Given the description of an element on the screen output the (x, y) to click on. 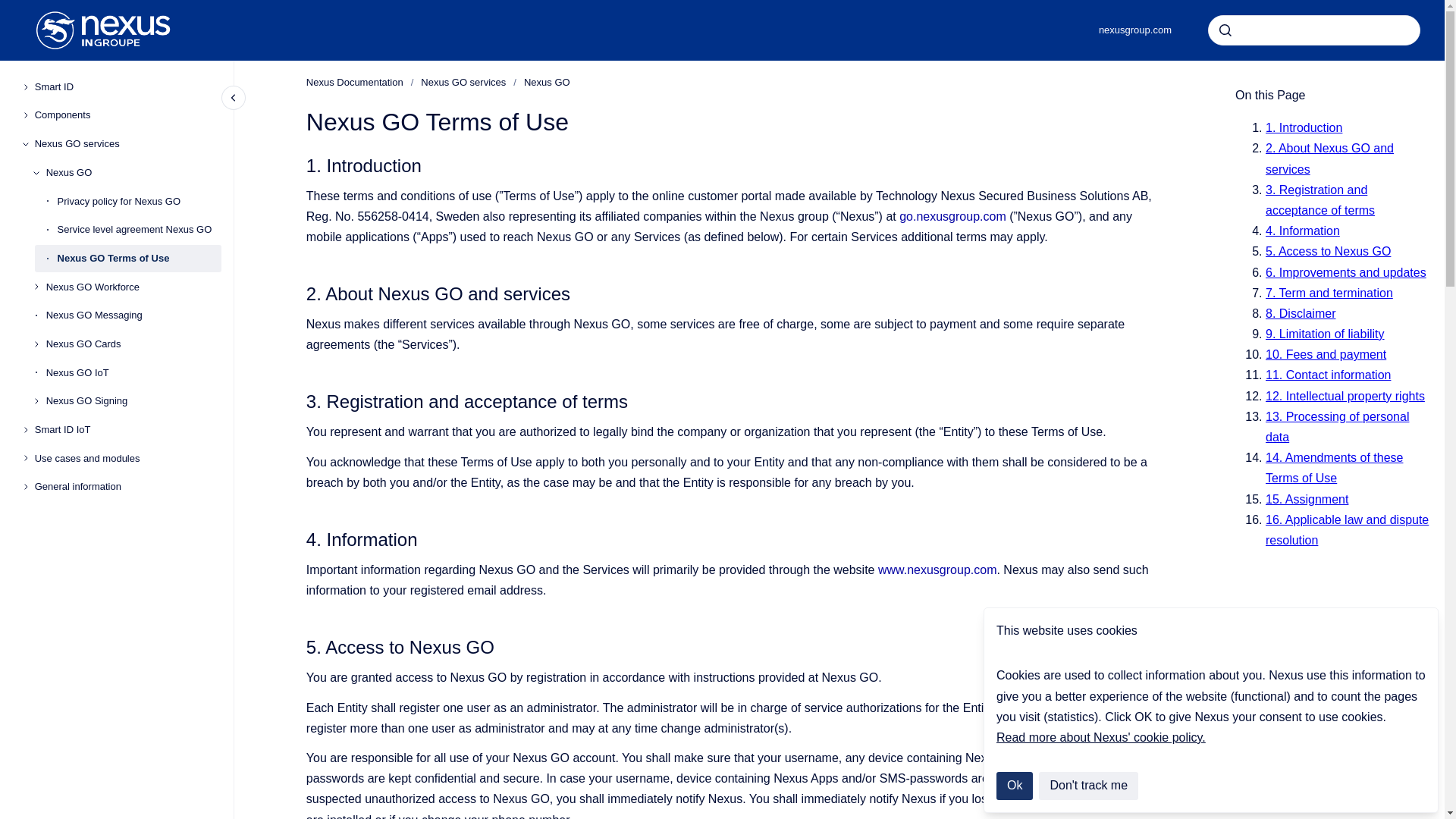
Service level agreement Nexus GO (139, 229)
Nexus GO IoT (133, 372)
General information (127, 487)
Nexus GO (133, 172)
Don't track me (1088, 786)
Components (127, 115)
Go to homepage (103, 30)
Ok (1013, 786)
Nexus GO Workforce (133, 287)
Nexus GO Terms of Use (139, 257)
